Given the description of an element on the screen output the (x, y) to click on. 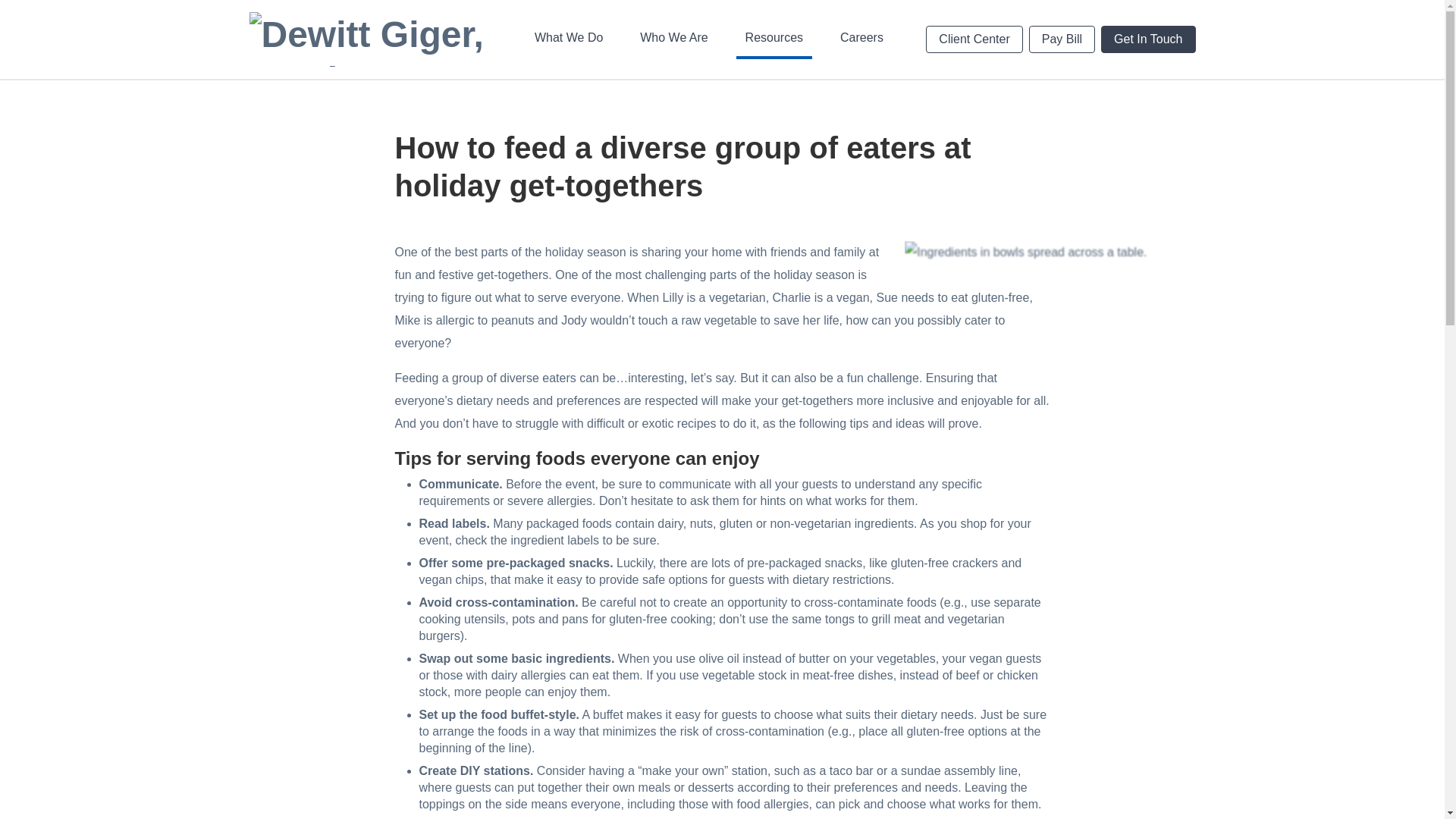
Who We Are (673, 38)
What We Do (568, 38)
Careers (861, 38)
Client Center (974, 39)
Resources (774, 38)
DeWitt Giger, LLP (370, 39)
Client Forms (1069, 13)
Pay Bill (856, 15)
Get In Touch (1061, 39)
